Given the description of an element on the screen output the (x, y) to click on. 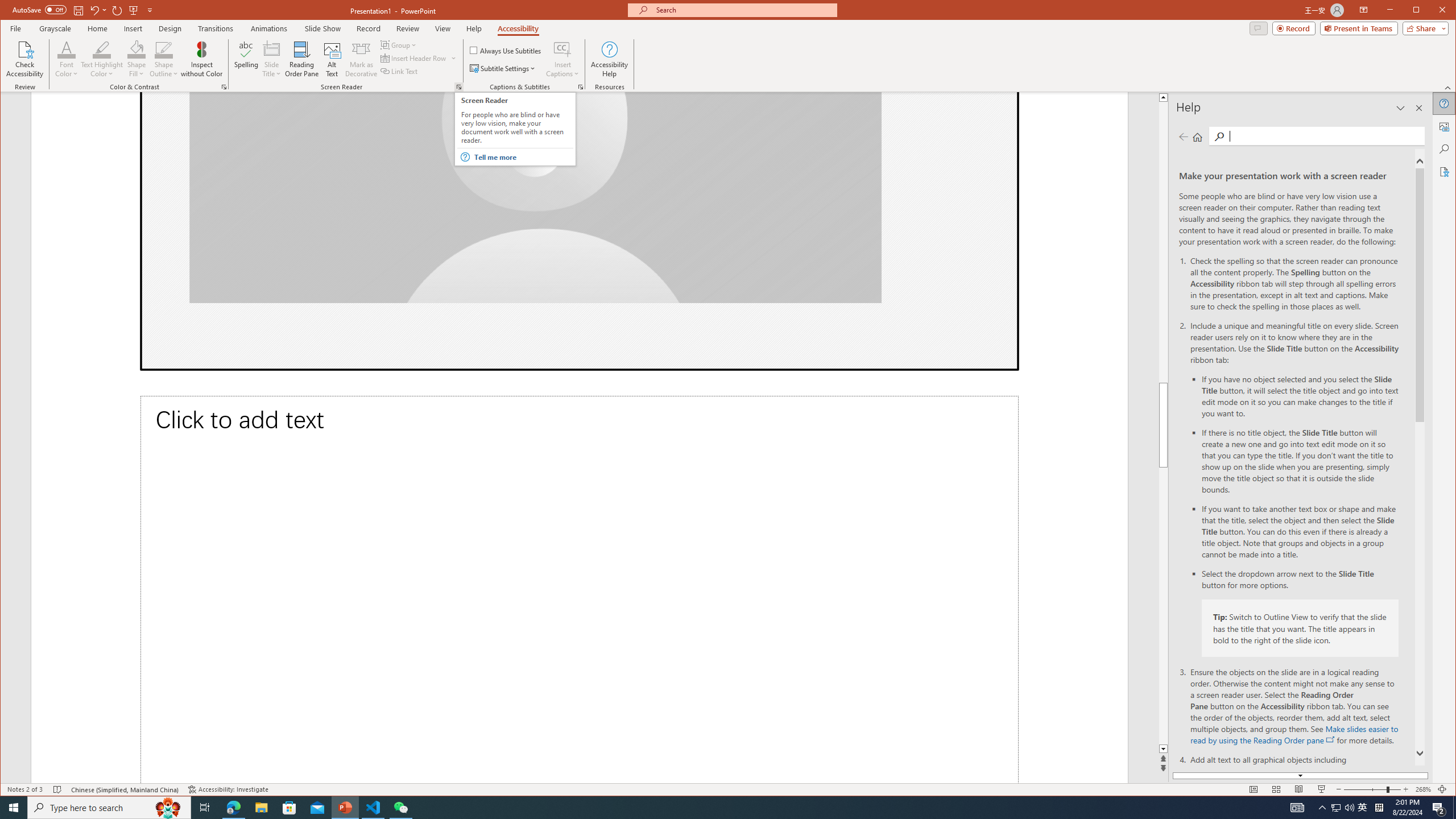
Subtitle Settings (502, 68)
WeChat - 1 running window (400, 807)
Shape Fill (136, 59)
Slide Title (271, 48)
Inspect without Color (201, 59)
Previous page (1183, 136)
